Given the description of an element on the screen output the (x, y) to click on. 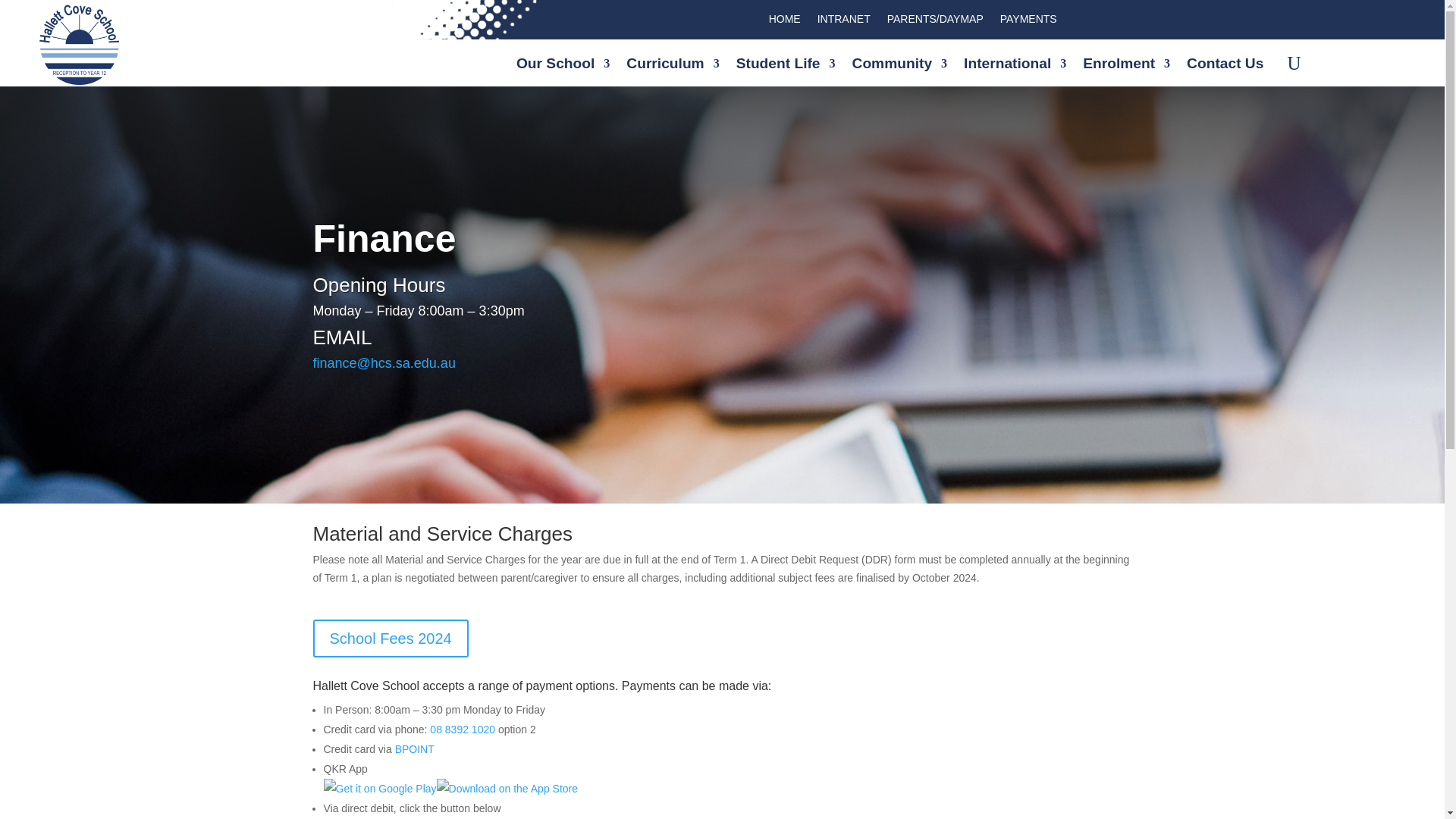
PAYMENTS (1028, 21)
INTRANET (843, 21)
Student Life (785, 66)
Curriculum (672, 66)
HOME (784, 21)
Our School (563, 66)
